Given the description of an element on the screen output the (x, y) to click on. 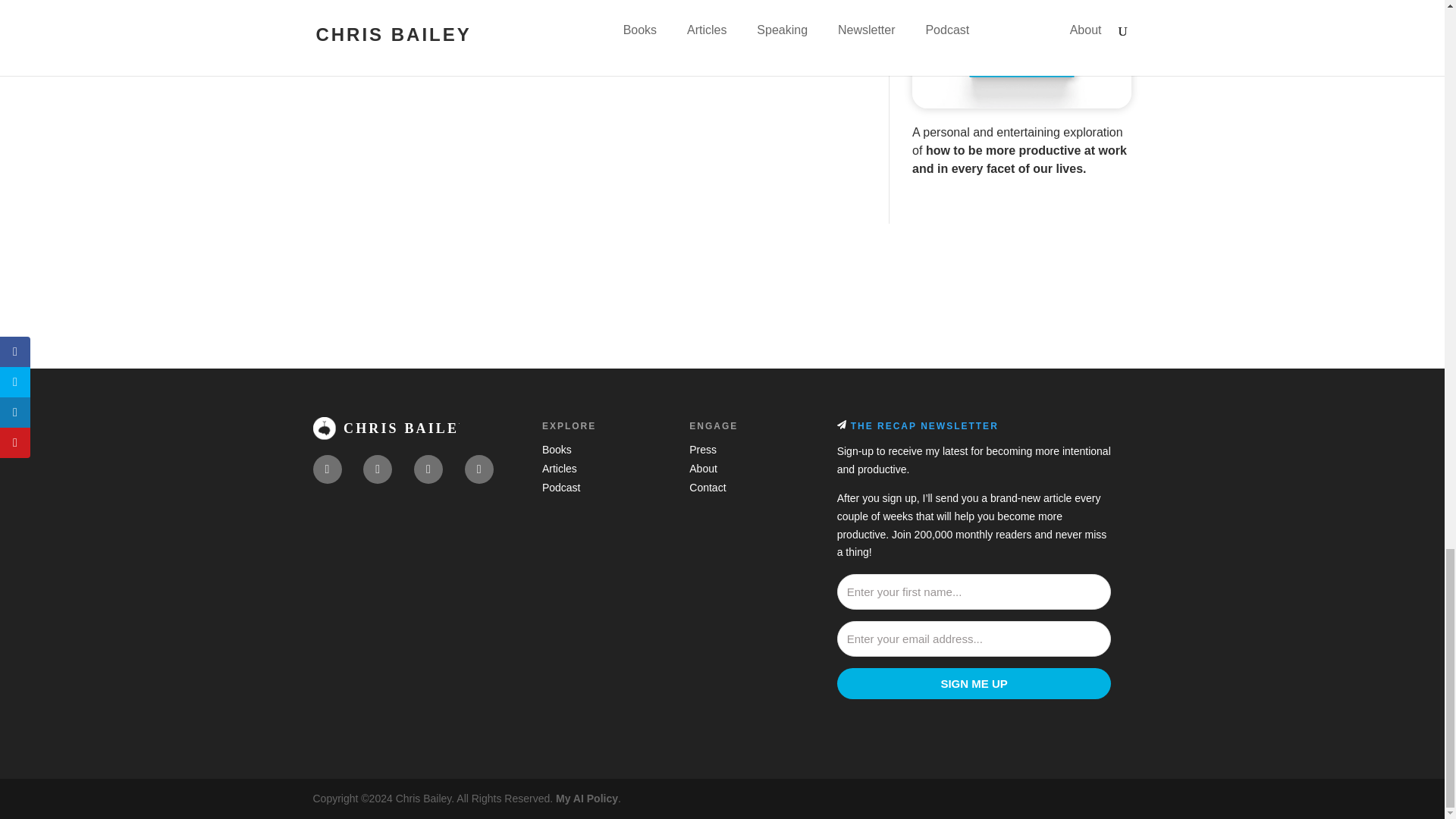
Podcast (560, 487)
CHRIS BAILEY (385, 427)
My AI Policy (586, 798)
About (702, 468)
SIGN ME UP (974, 683)
Press (702, 449)
Contact (706, 487)
Books (556, 449)
Articles (558, 468)
